Given the description of an element on the screen output the (x, y) to click on. 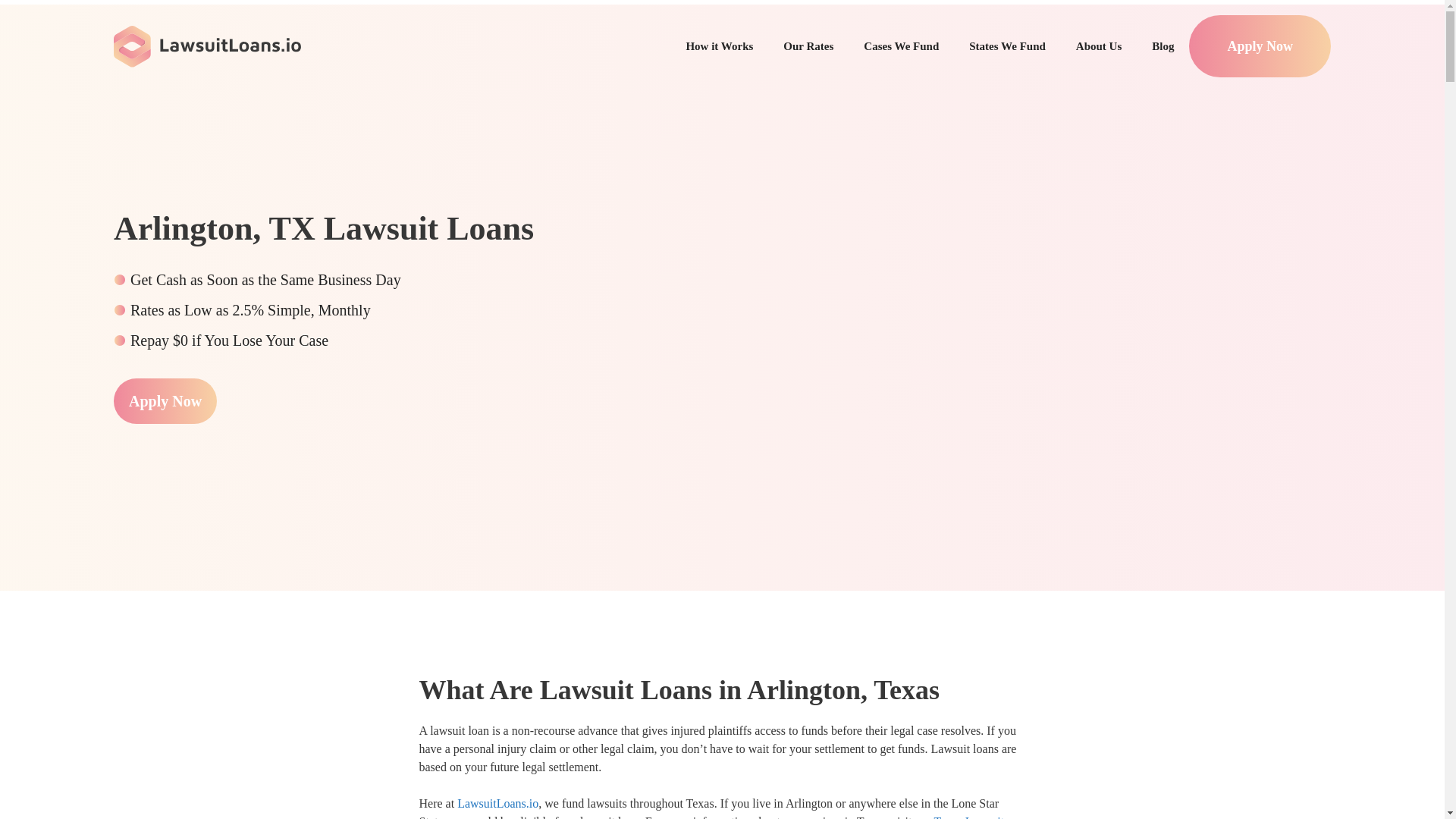
States We Fund (1007, 45)
Apply Now (1259, 45)
How it Works (718, 45)
LawsuitLoans.io (497, 802)
About Us (1099, 45)
Cases We Fund (900, 45)
Apply Now (164, 401)
Our Rates (808, 45)
Blog (1163, 45)
